Given the description of an element on the screen output the (x, y) to click on. 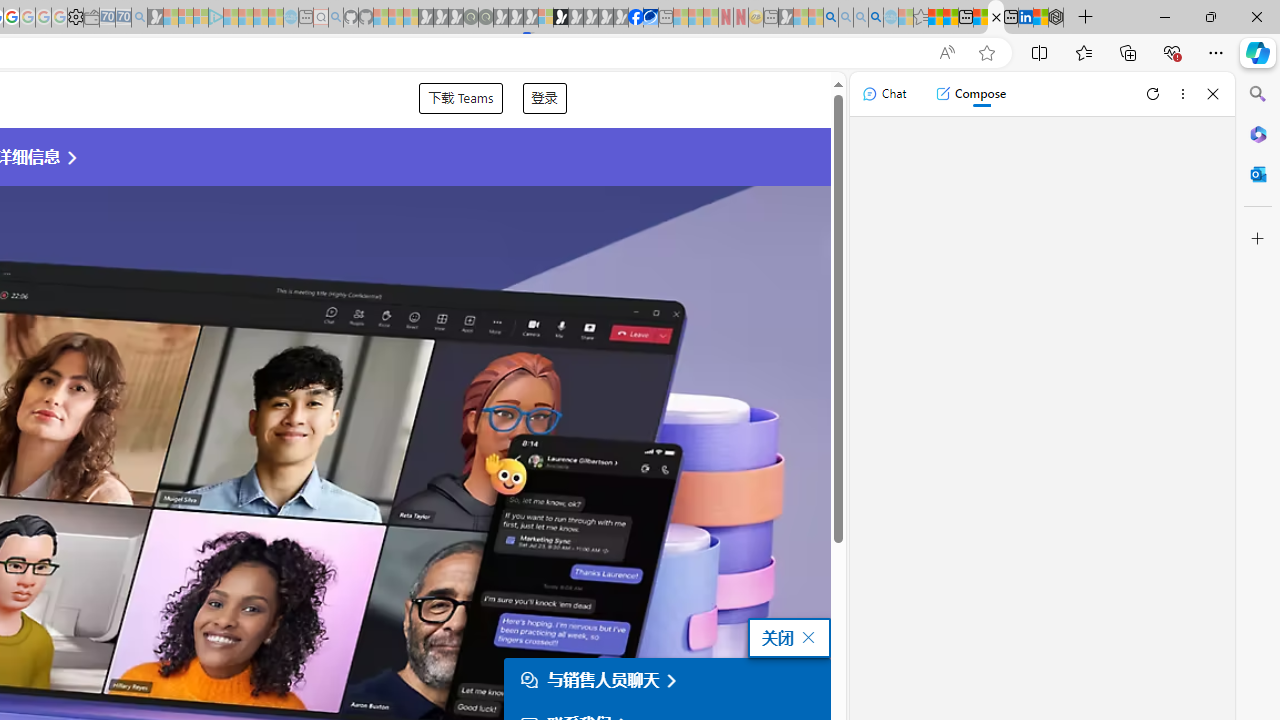
Future Focus Report 2024 - Sleeping (485, 17)
